Given the description of an element on the screen output the (x, y) to click on. 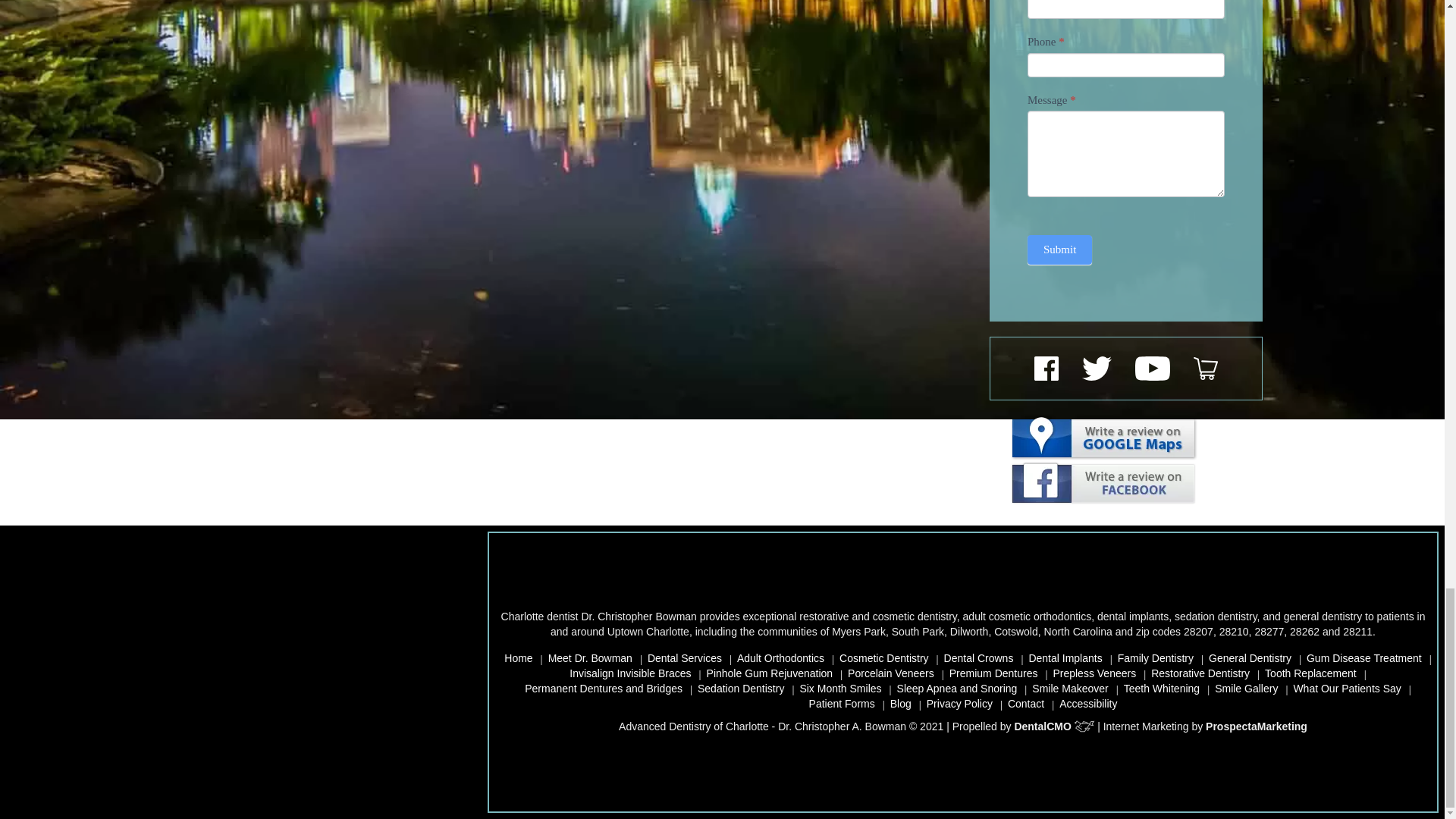
Internet Dental Marketing (1256, 726)
